Given the description of an element on the screen output the (x, y) to click on. 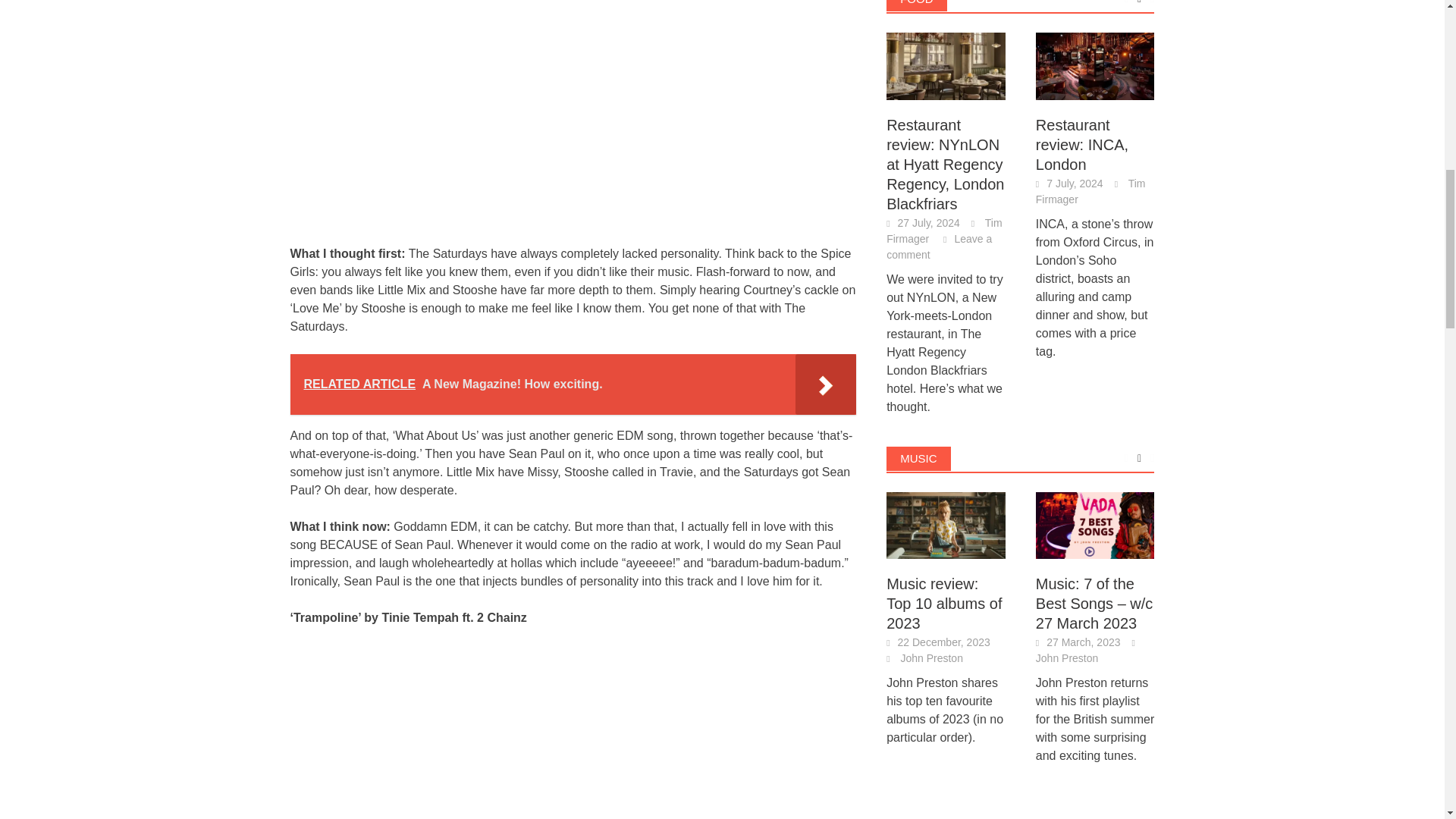
Restaurant review: INCA, London (1094, 64)
Restaurant review: INCA, London (1094, 65)
Music review: Top 10 albums of 2023 (946, 523)
